Given the description of an element on the screen output the (x, y) to click on. 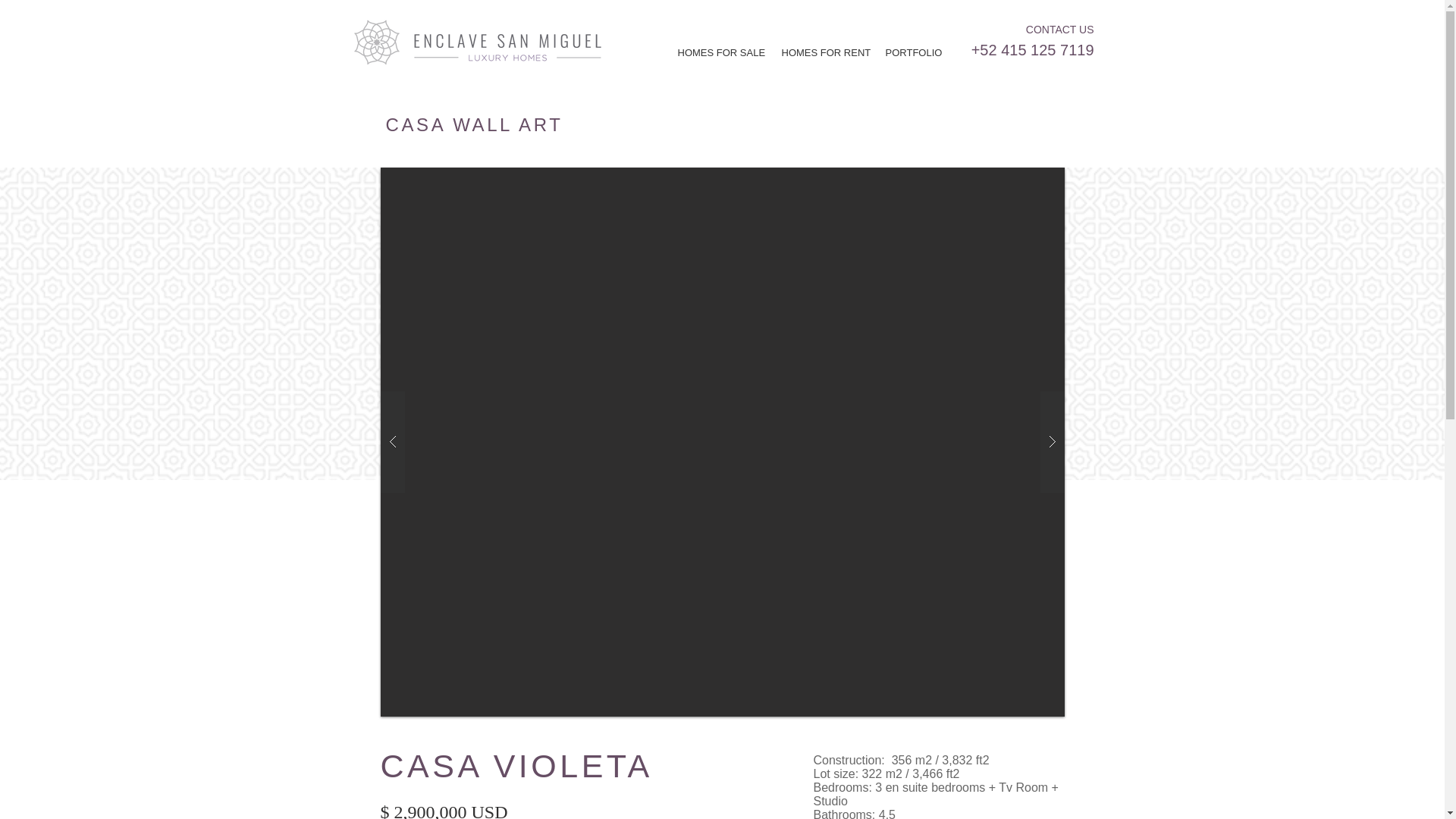
HOMES FOR RENT (822, 52)
HOMES FOR SALE (717, 52)
PORTFOLIO (911, 52)
LOGO-HORIZONTAL.png (507, 46)
